Given the description of an element on the screen output the (x, y) to click on. 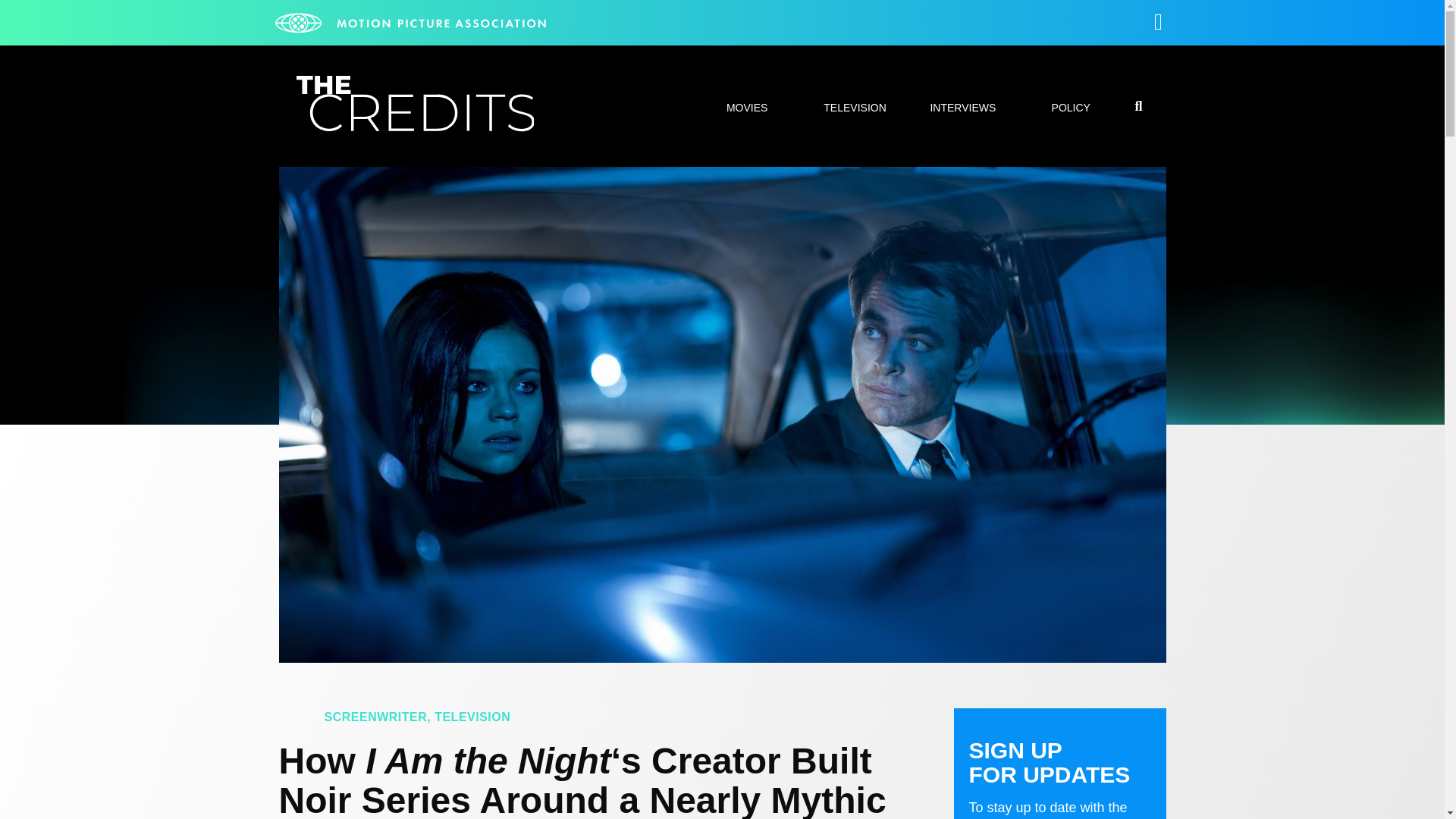
Search (1077, 408)
